Given the description of an element on the screen output the (x, y) to click on. 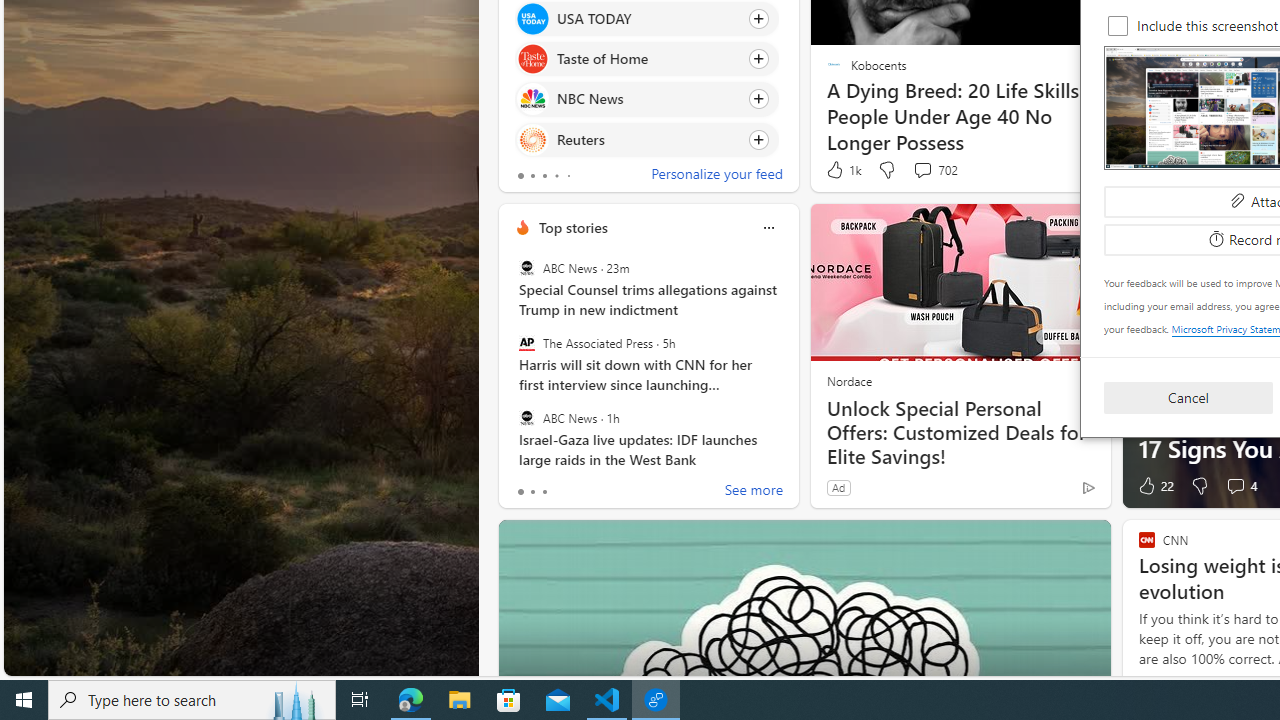
Include this screenshot (1117, 25)
View comments 702 Comment (934, 170)
Microsoft Edge - 1 running window (411, 699)
File Explorer (460, 699)
tab-4 (567, 175)
1k Like (842, 170)
Click to follow source USA TODAY (646, 18)
NBC News (532, 98)
Start (24, 699)
USA TODAY (532, 18)
Top stories (572, 227)
tab-2 (543, 491)
Class: icon-img (768, 228)
